Given the description of an element on the screen output the (x, y) to click on. 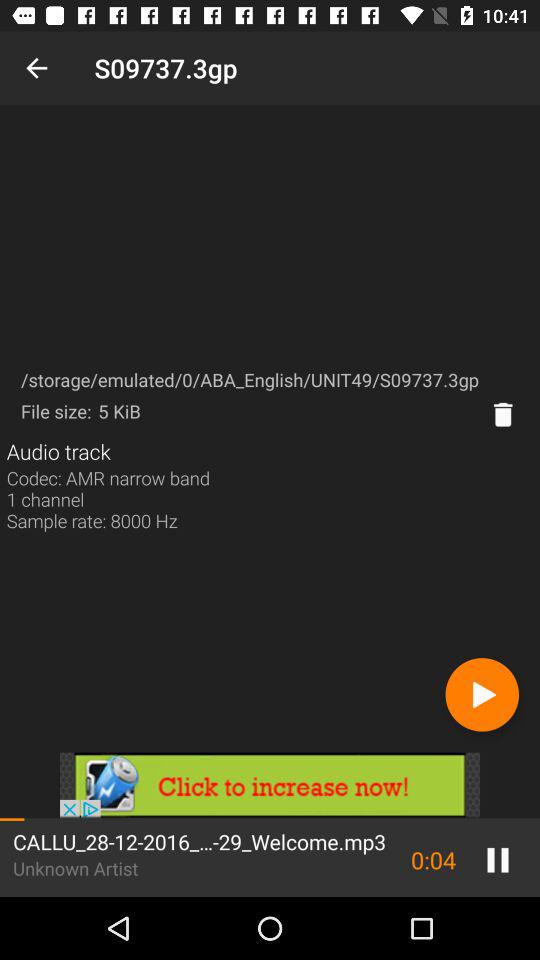
go to delete patturn (503, 414)
